Given the description of an element on the screen output the (x, y) to click on. 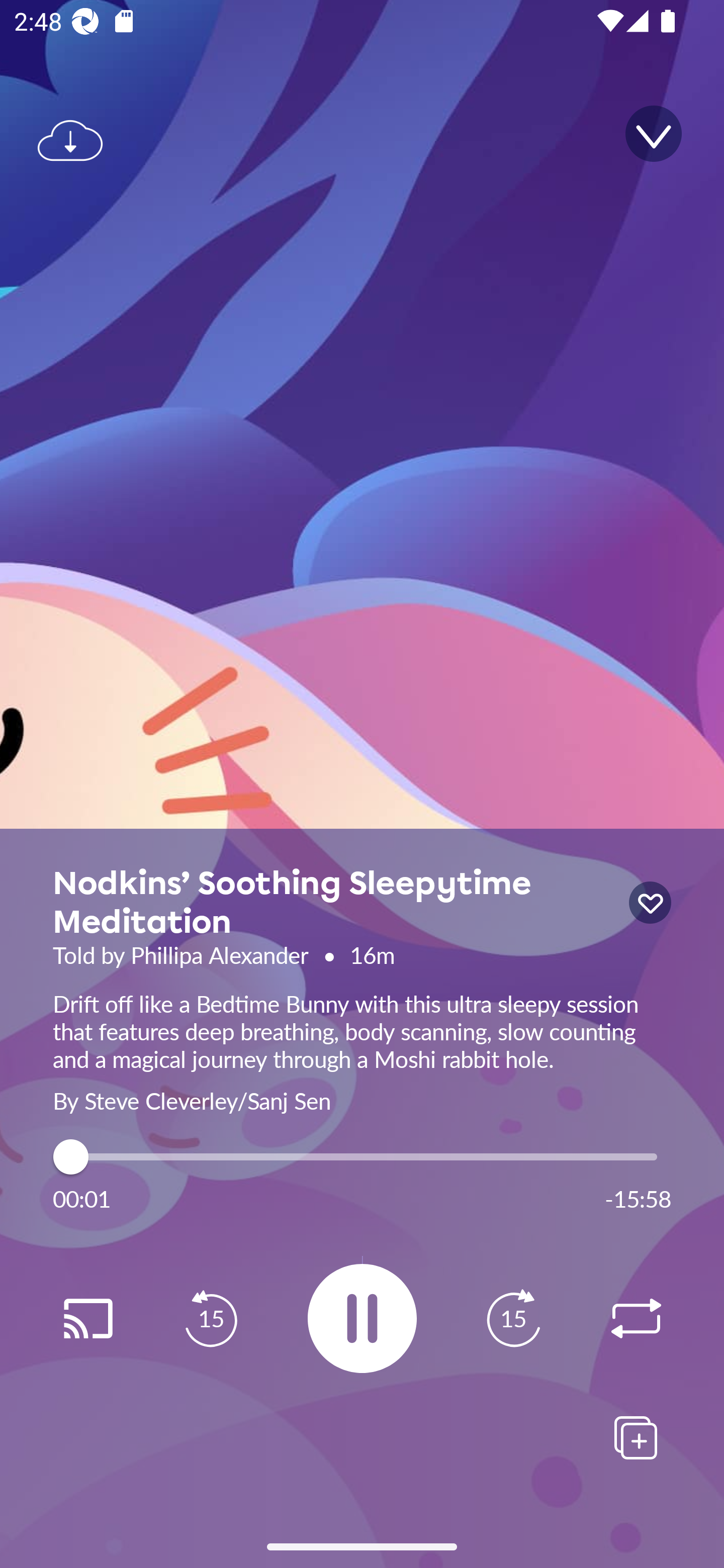
lock icon (650, 902)
2.8125E-5 Pause (361, 1317)
Replay (87, 1318)
Replay 15 (210, 1318)
Replay 15 (513, 1318)
Replay (635, 1318)
Add To Playlists (635, 1437)
